Given the description of an element on the screen output the (x, y) to click on. 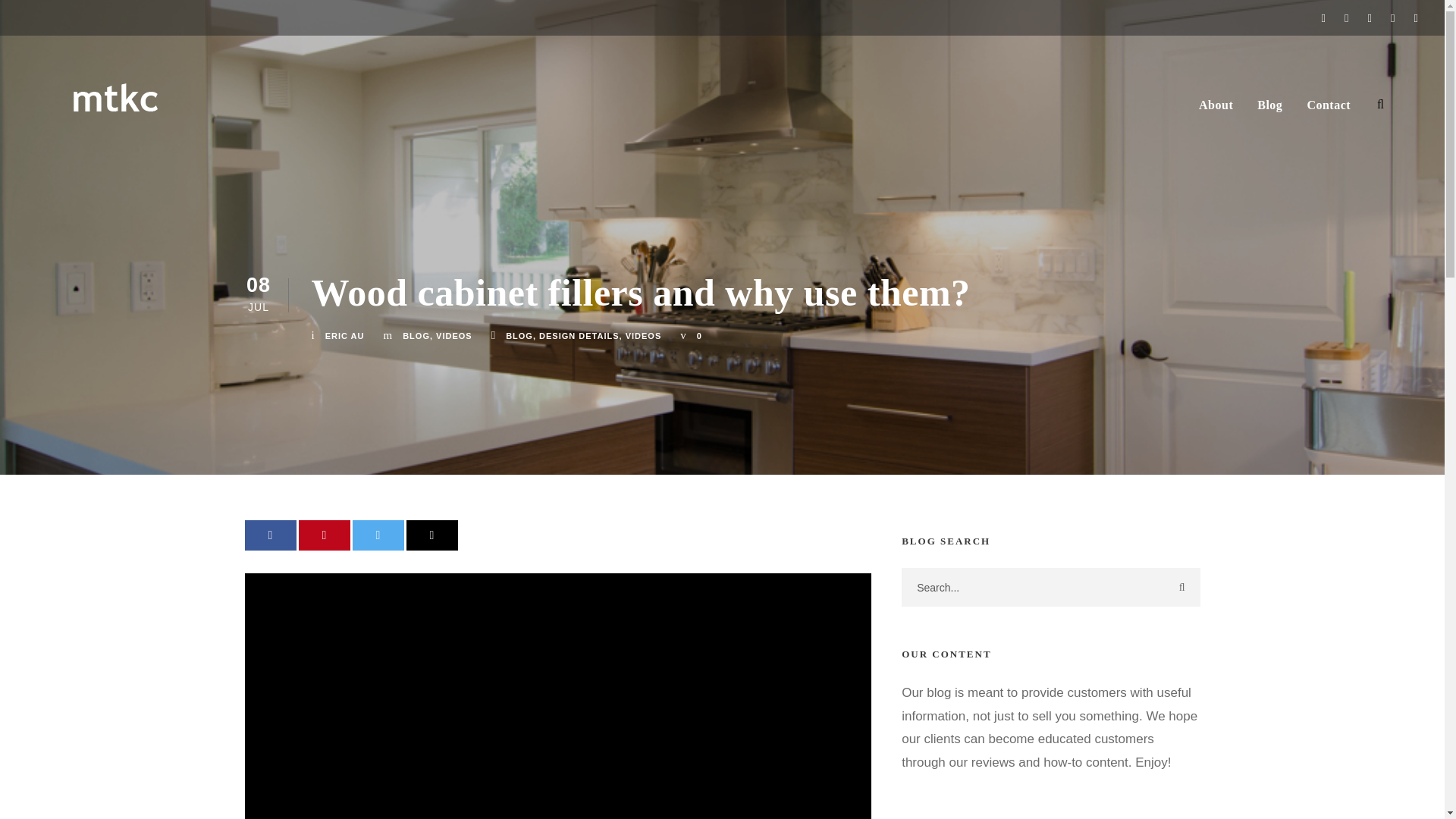
mtkc logo bold white on clear (109, 87)
DESIGN DETAILS (578, 335)
About (1215, 112)
VIDEOS (644, 335)
Contact (1328, 112)
BLOG (416, 335)
Posts by Eric Au (344, 335)
BLOG (518, 335)
ERIC AU (344, 335)
VIDEOS (453, 335)
